Given the description of an element on the screen output the (x, y) to click on. 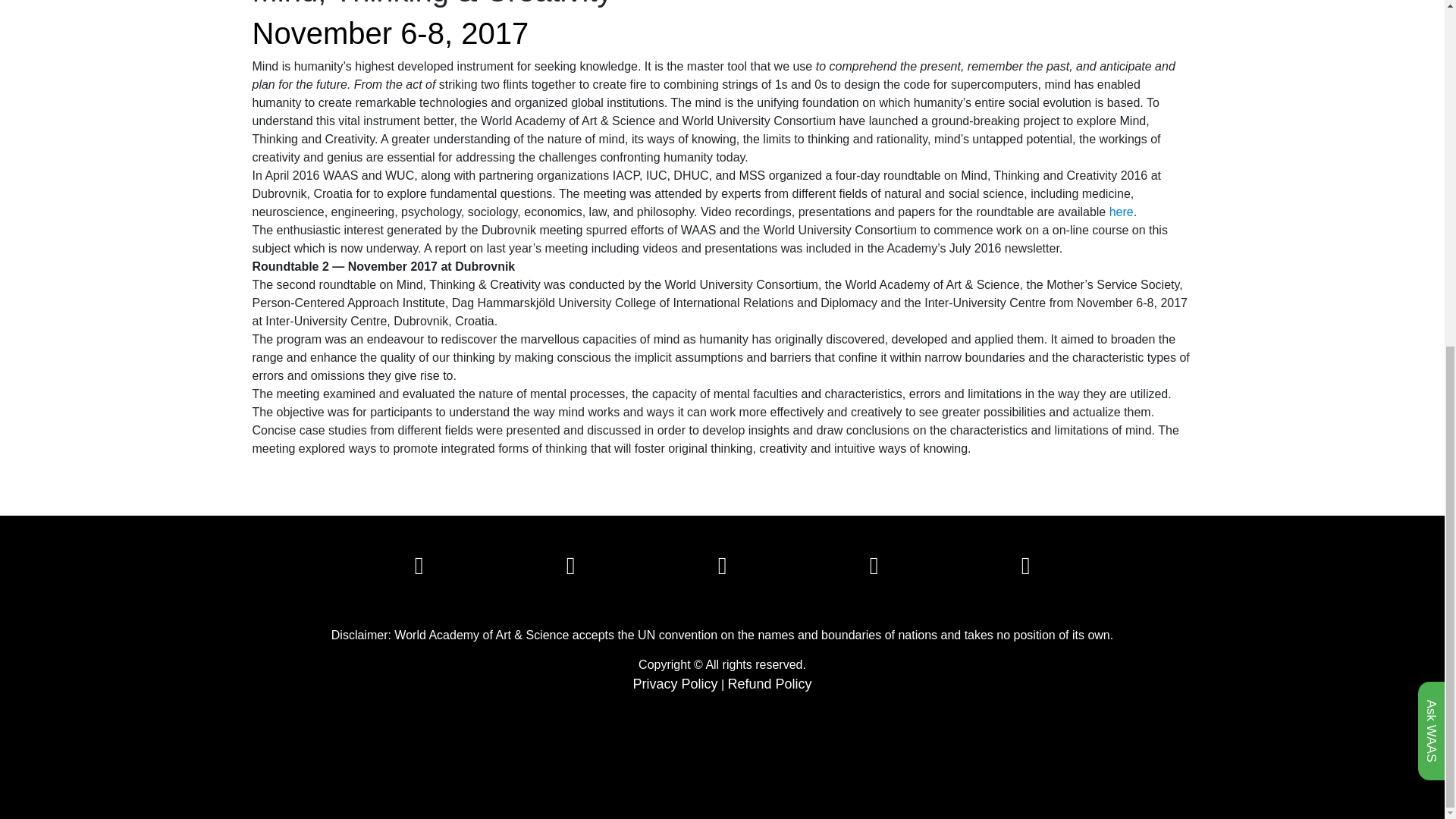
Linkedin (721, 569)
Facebook (418, 569)
Youtube (1026, 569)
Privacy Policy (674, 683)
Refund Policy (770, 683)
here (1121, 211)
Instagram (874, 569)
Twitter (570, 569)
